Given the description of an element on the screen output the (x, y) to click on. 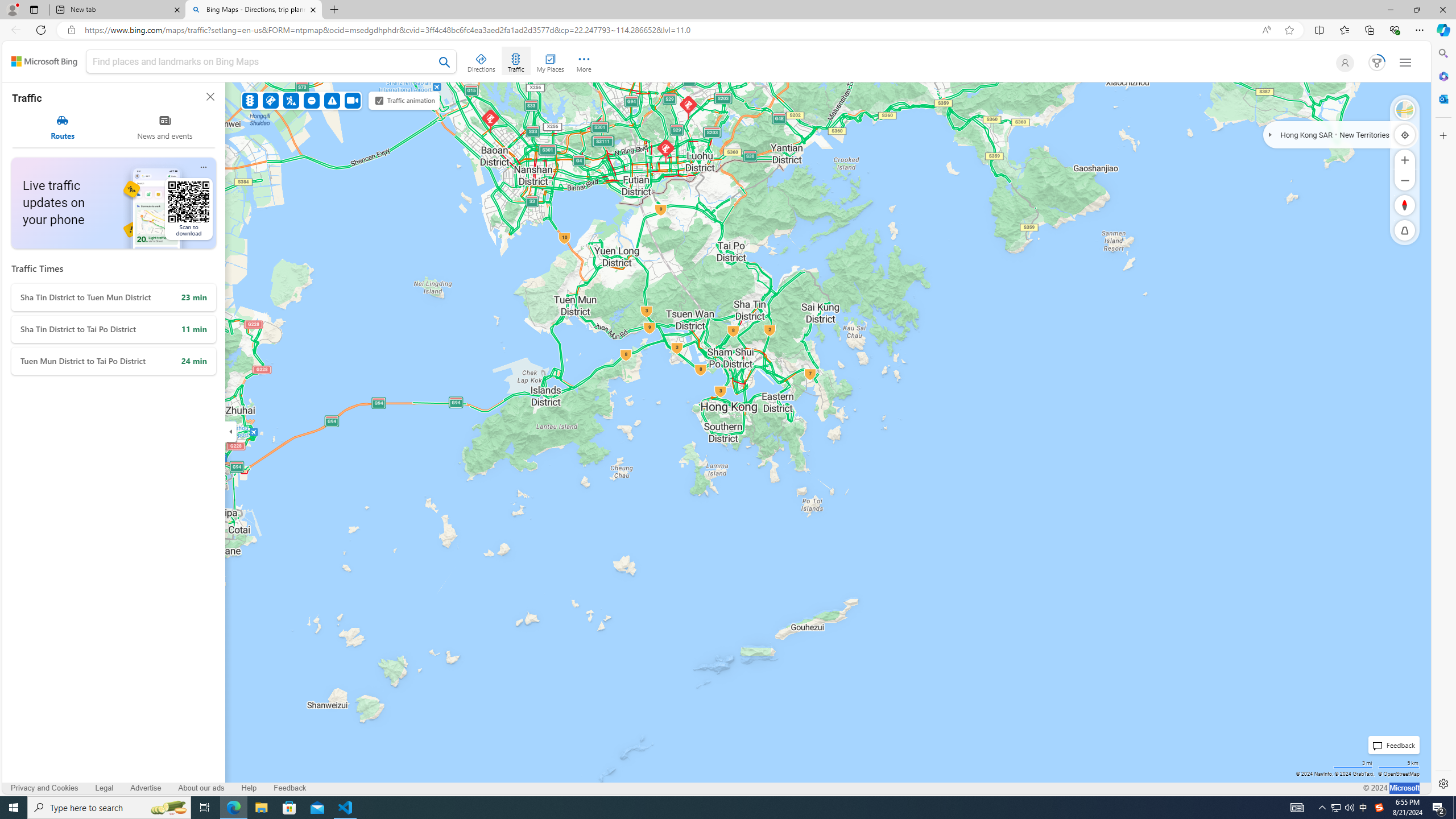
Privacy and Cookies (44, 787)
Privacy and Cookies (44, 787)
About our ads (200, 787)
Search Bing Maps (444, 61)
Directions (481, 60)
Construction (290, 100)
Zoom Out (1404, 180)
AutomationID: id_l (1342, 62)
